Given the description of an element on the screen output the (x, y) to click on. 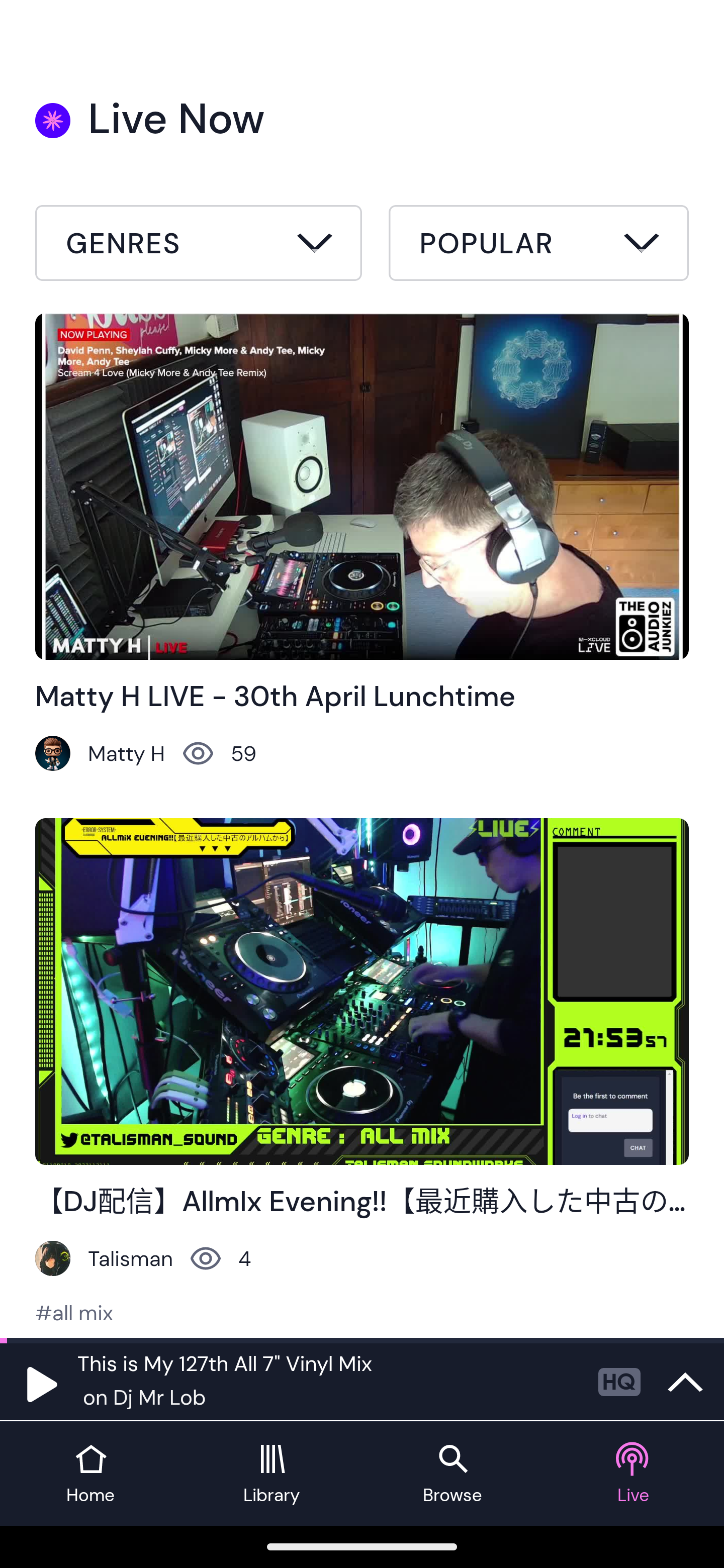
Filter by button All (198, 245)
Sort by button Popular (538, 245)
Home tab Home (90, 1473)
Library tab Library (271, 1473)
Browse tab Browse (452, 1473)
Live tab Live (633, 1473)
